Given the description of an element on the screen output the (x, y) to click on. 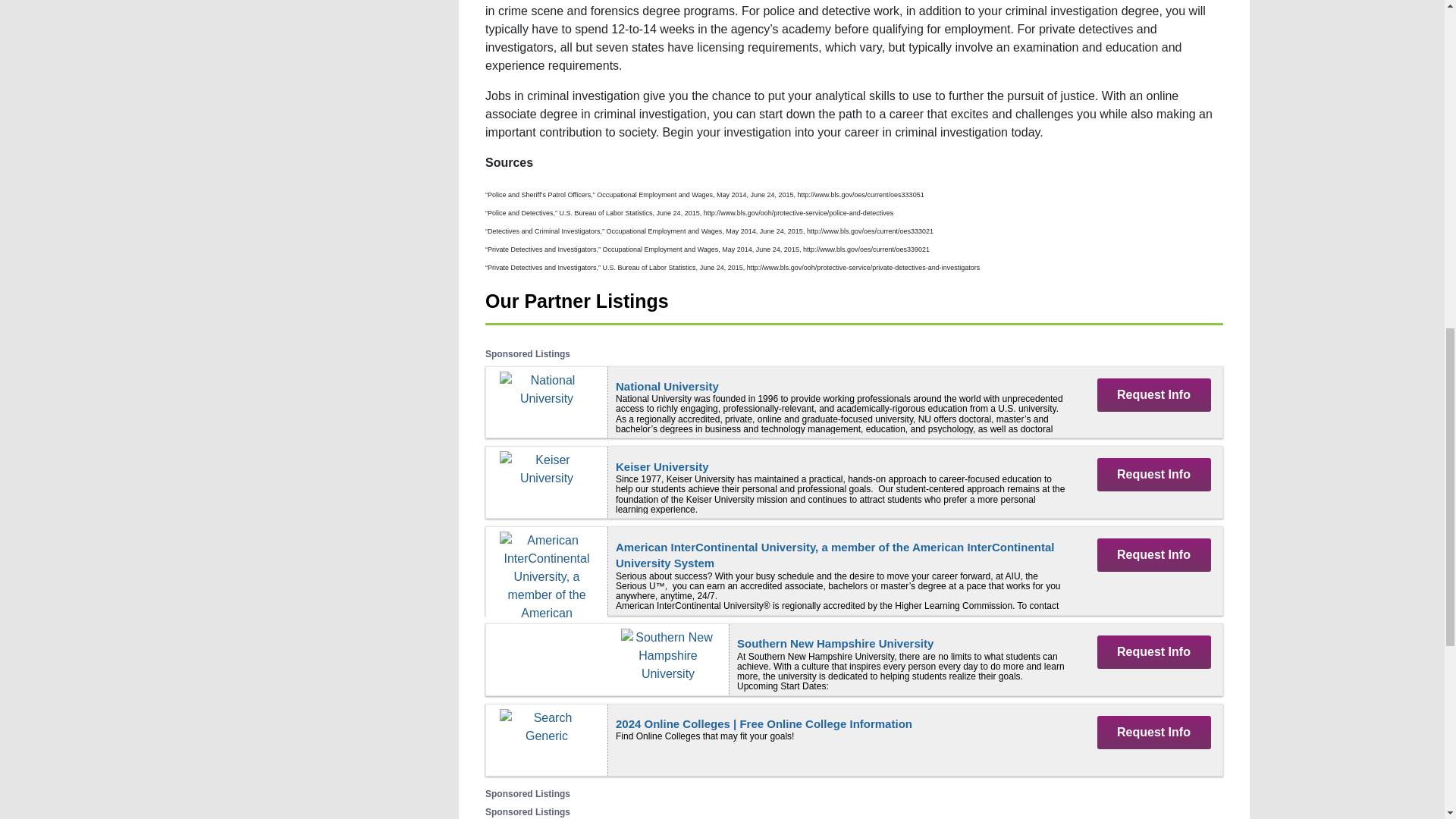
Sponsored Listings (527, 353)
